Given the description of an element on the screen output the (x, y) to click on. 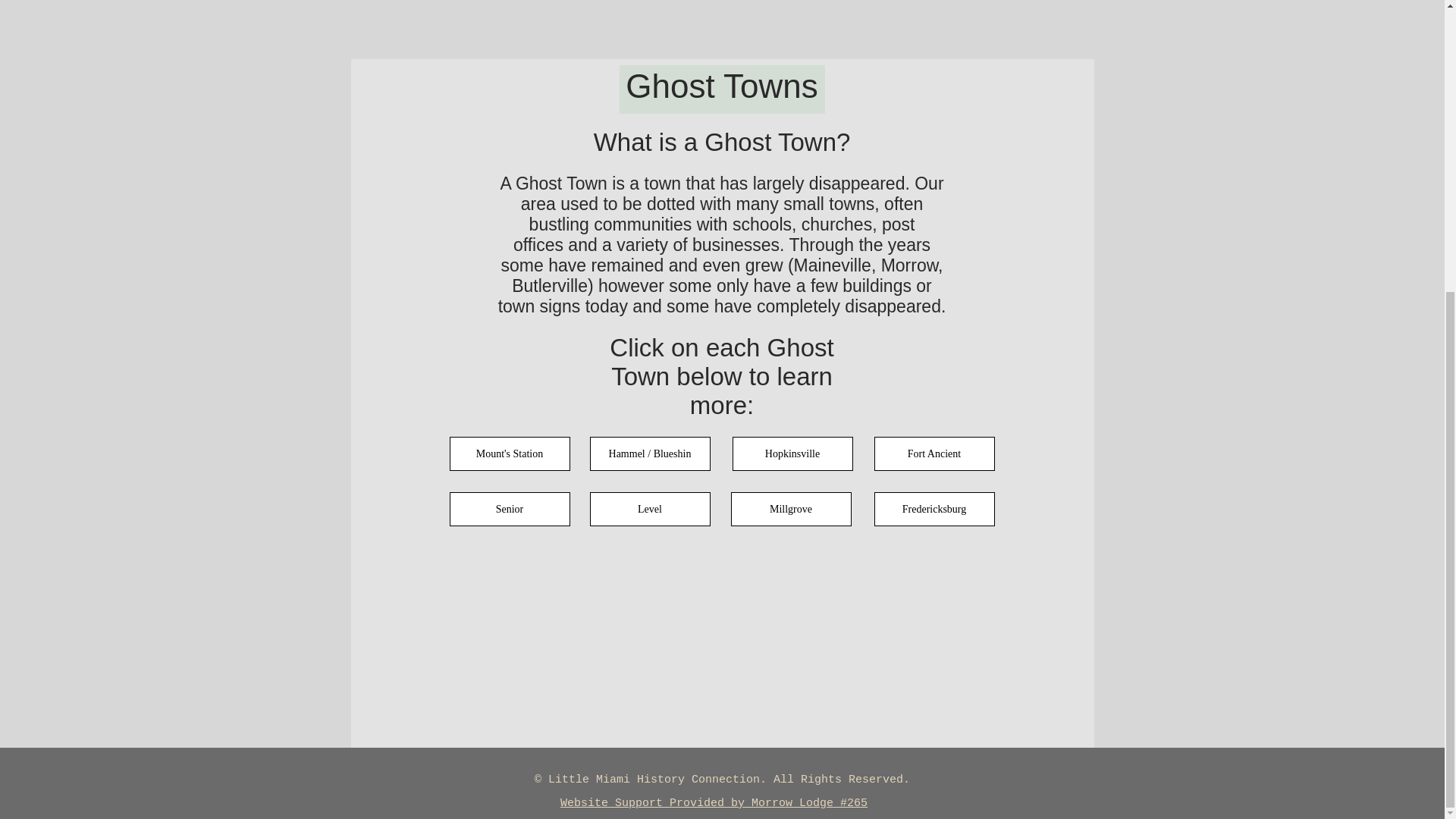
Senior (508, 509)
Level (649, 509)
Hopkinsville (792, 453)
Mount's Station (508, 453)
Fredericksburg (933, 509)
Millgrove (790, 509)
Fort Ancient (933, 453)
